Given the description of an element on the screen output the (x, y) to click on. 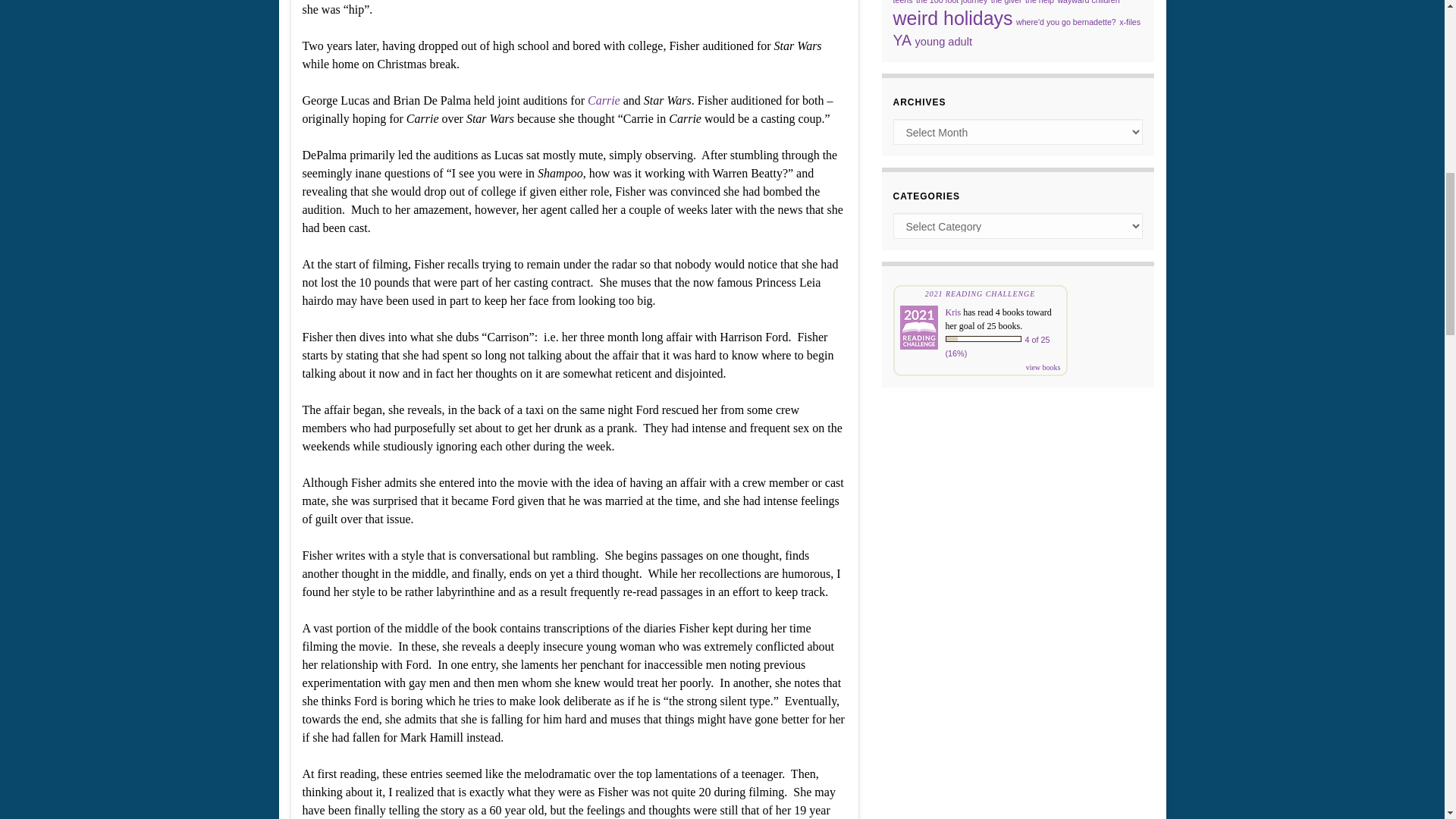
Carrie (605, 100)
